Given the description of an element on the screen output the (x, y) to click on. 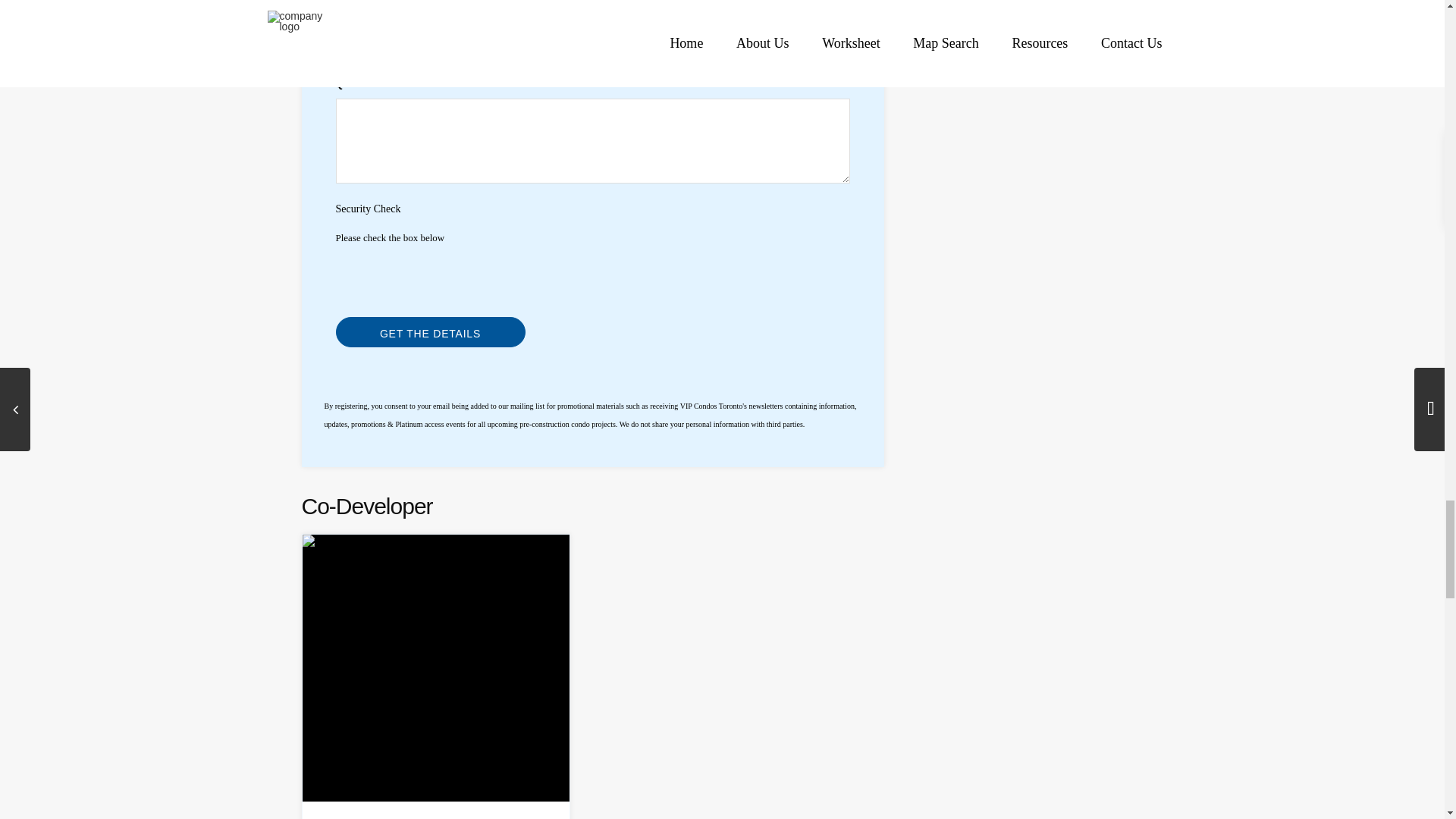
No (665, 47)
Yes (610, 47)
GET THE DETAILS (429, 331)
